Given the description of an element on the screen output the (x, y) to click on. 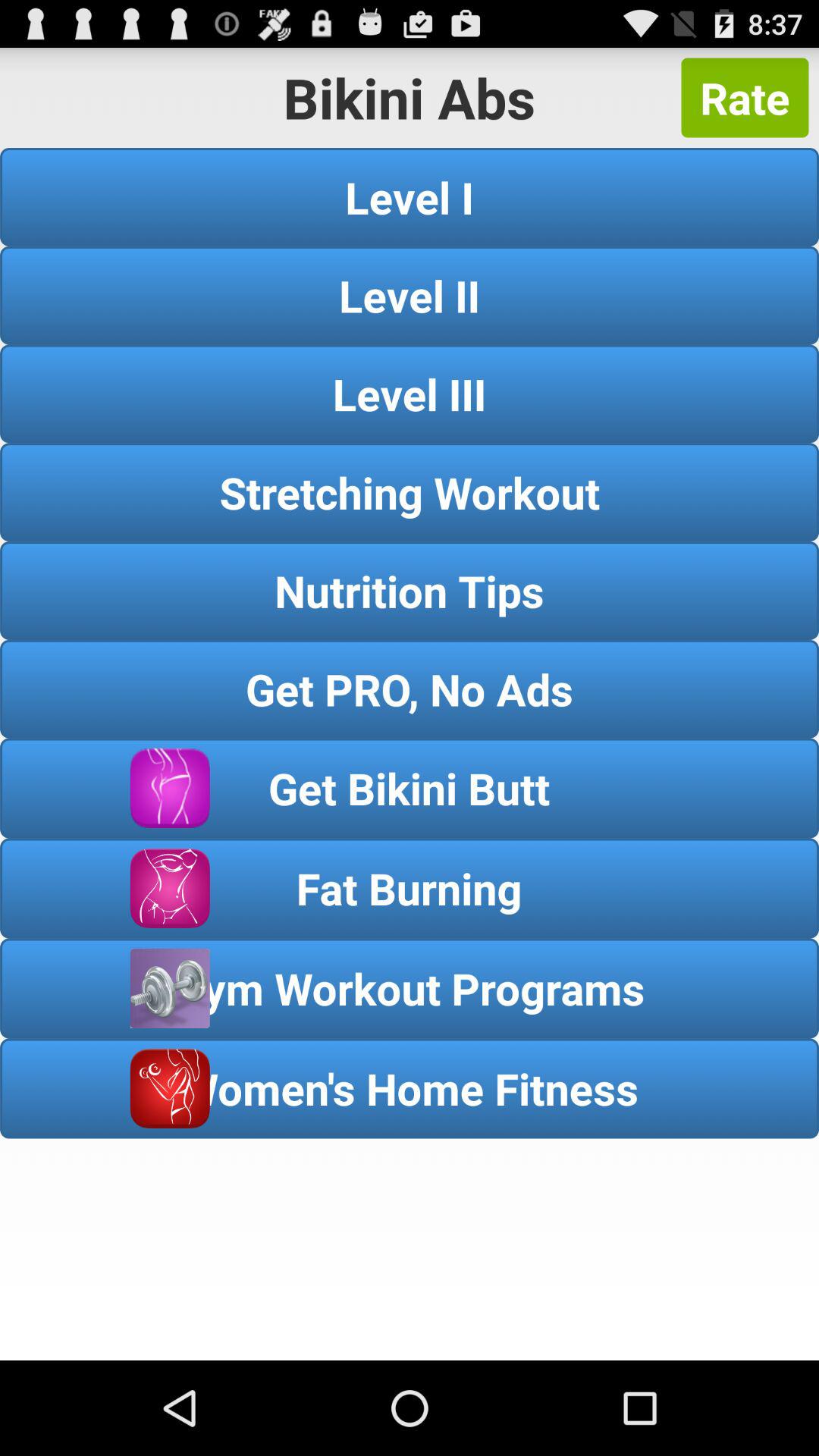
click the app next to the bikini abs app (744, 97)
